Given the description of an element on the screen output the (x, y) to click on. 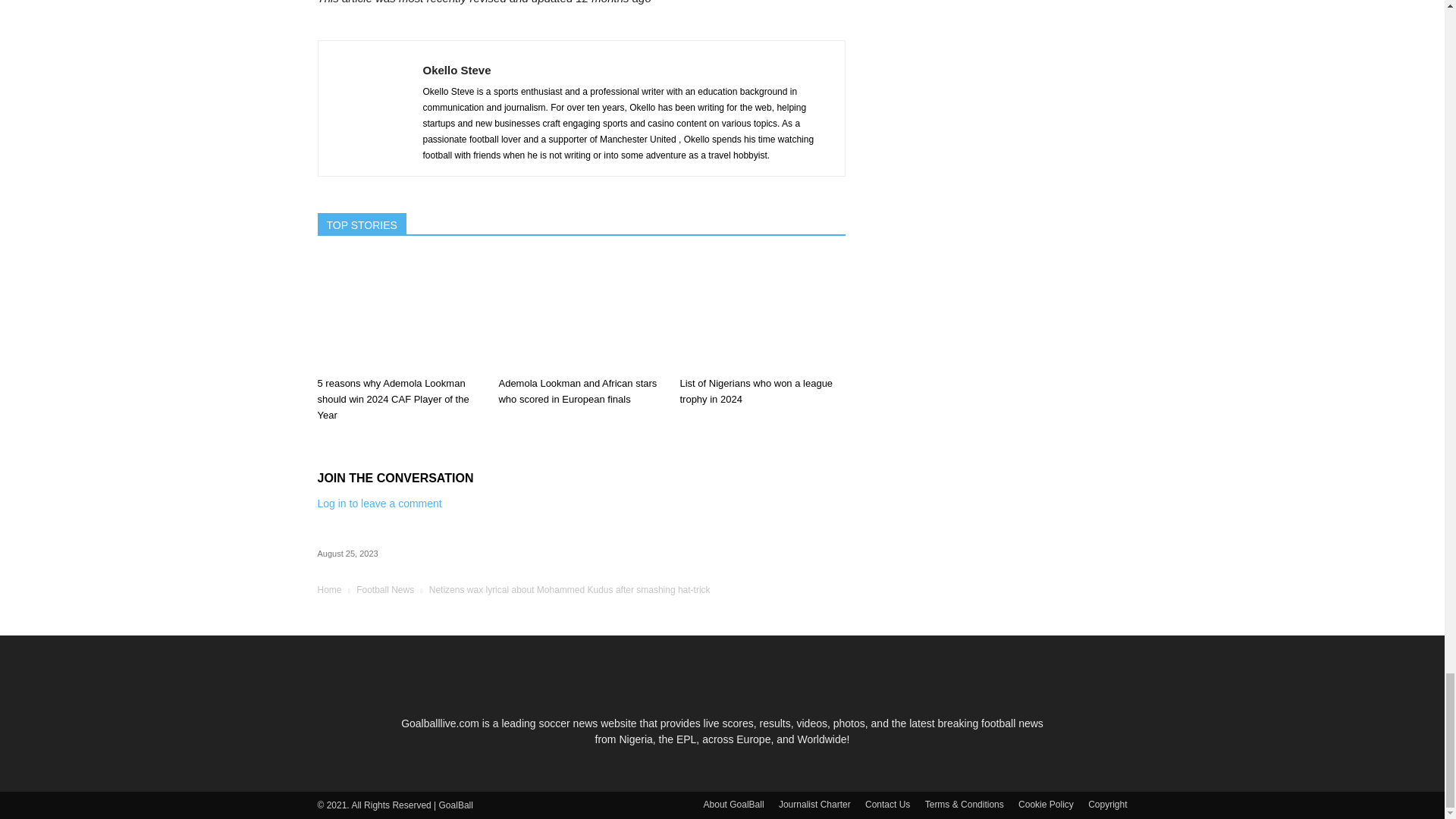
List of Nigerians who won a league trophy in 2024 (761, 313)
List of Nigerians who won a league trophy in 2024 (755, 390)
